Given the description of an element on the screen output the (x, y) to click on. 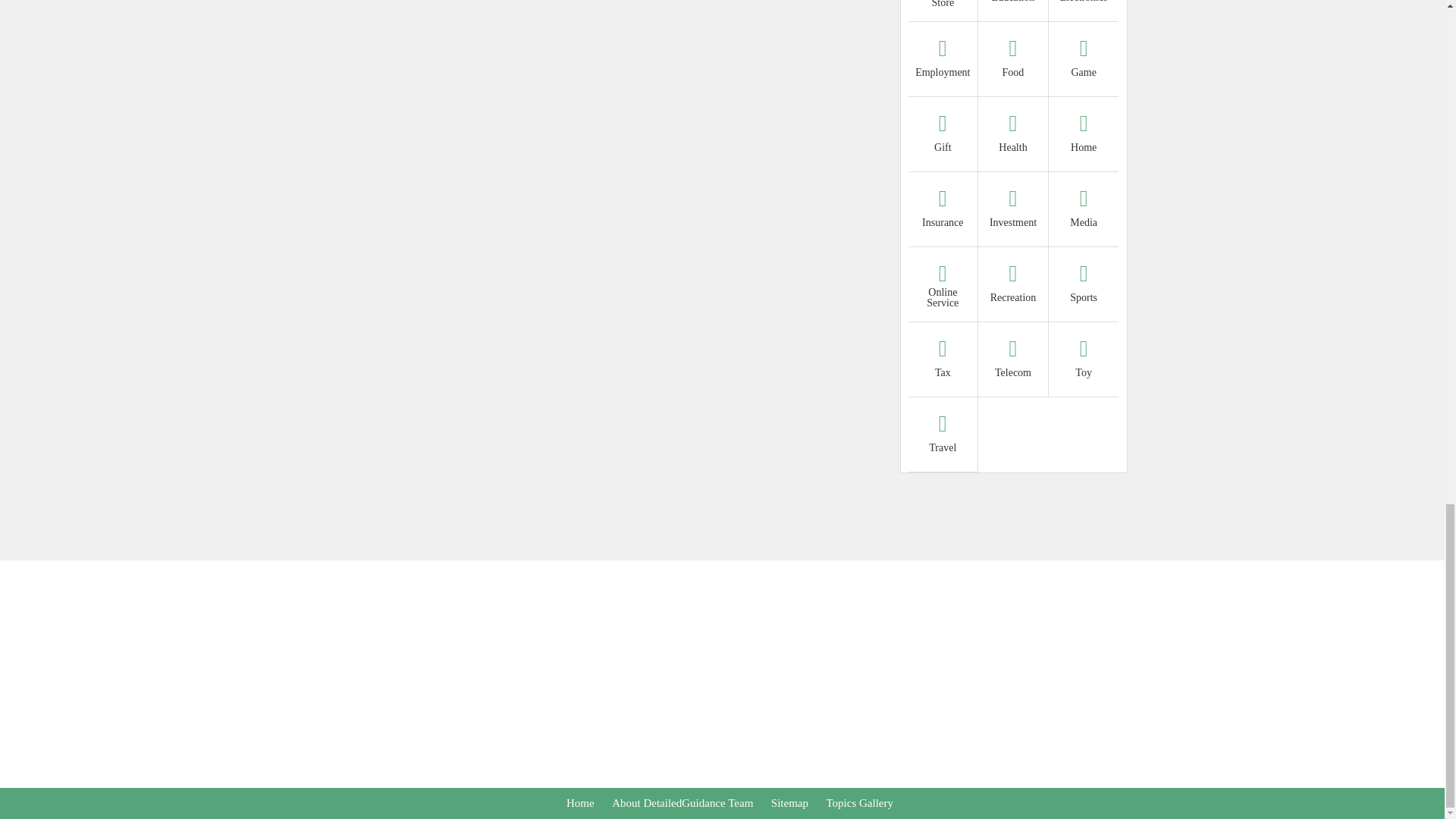
Department Store (943, 4)
Food (1013, 60)
Home (1083, 135)
Electronics (1083, 4)
Gift (943, 135)
Education (1013, 4)
Employment (943, 60)
Health (1013, 135)
Advertisement (721, 526)
Insurance (943, 211)
